Given the description of an element on the screen output the (x, y) to click on. 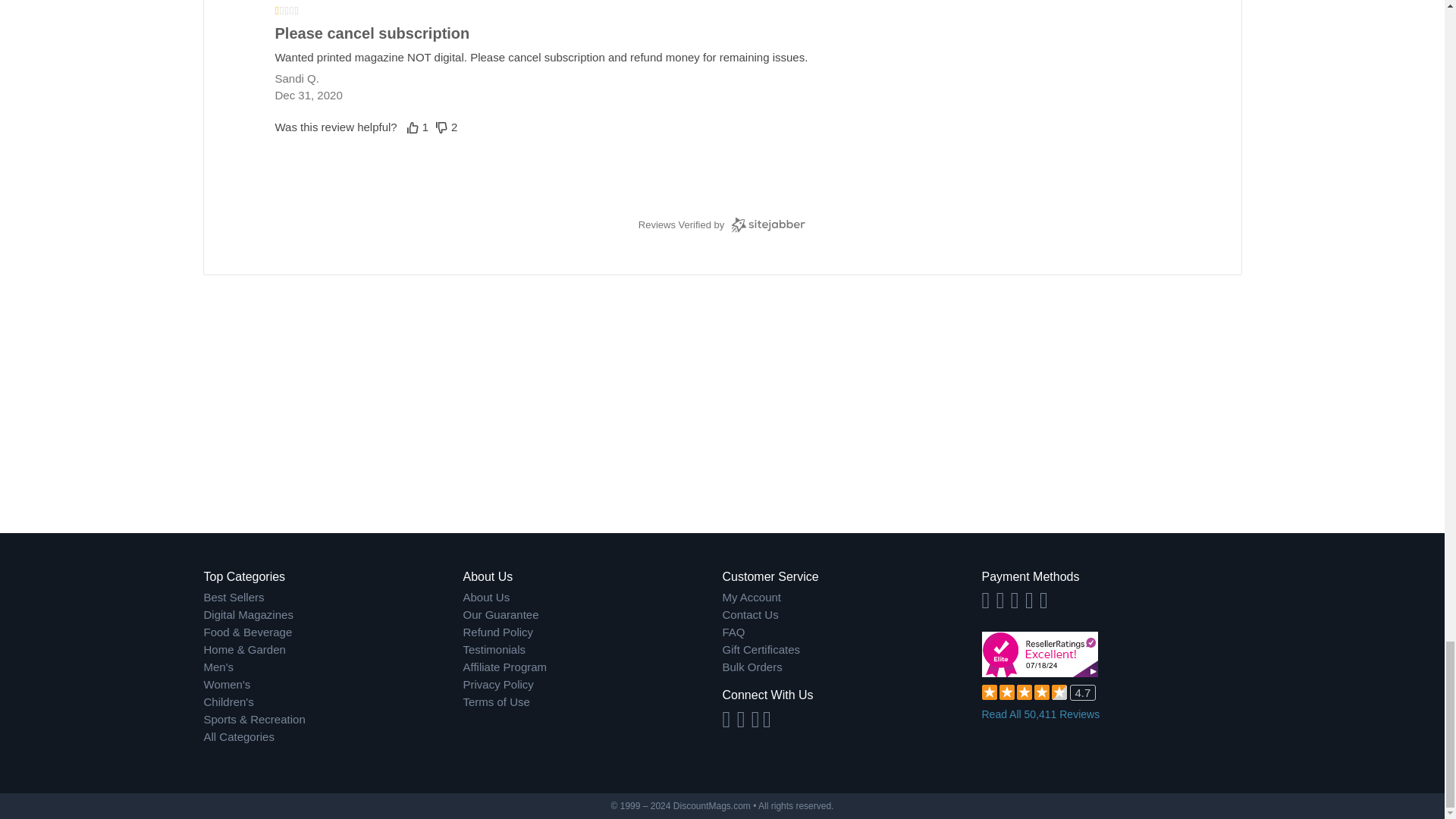
4.7 of 5.0 stars (1023, 692)
1.0 star rating (722, 10)
